Given the description of an element on the screen output the (x, y) to click on. 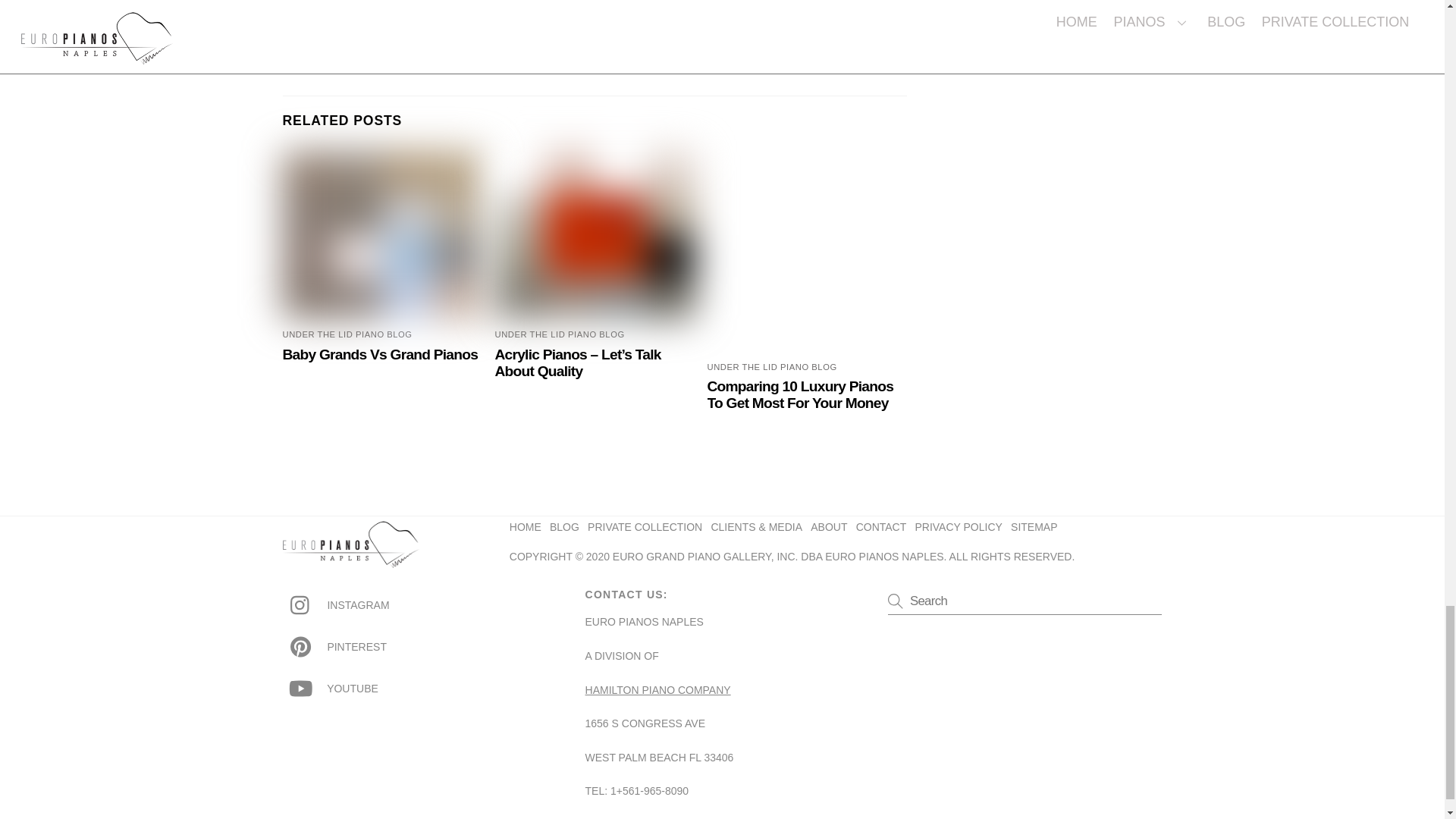
Best Concert Grand Pianos (441, 43)
Sauter Pianos (746, 43)
acrylic piano quality (595, 235)
baby grands vs grand pianos (381, 235)
luxury piano (807, 235)
